Given the description of an element on the screen output the (x, y) to click on. 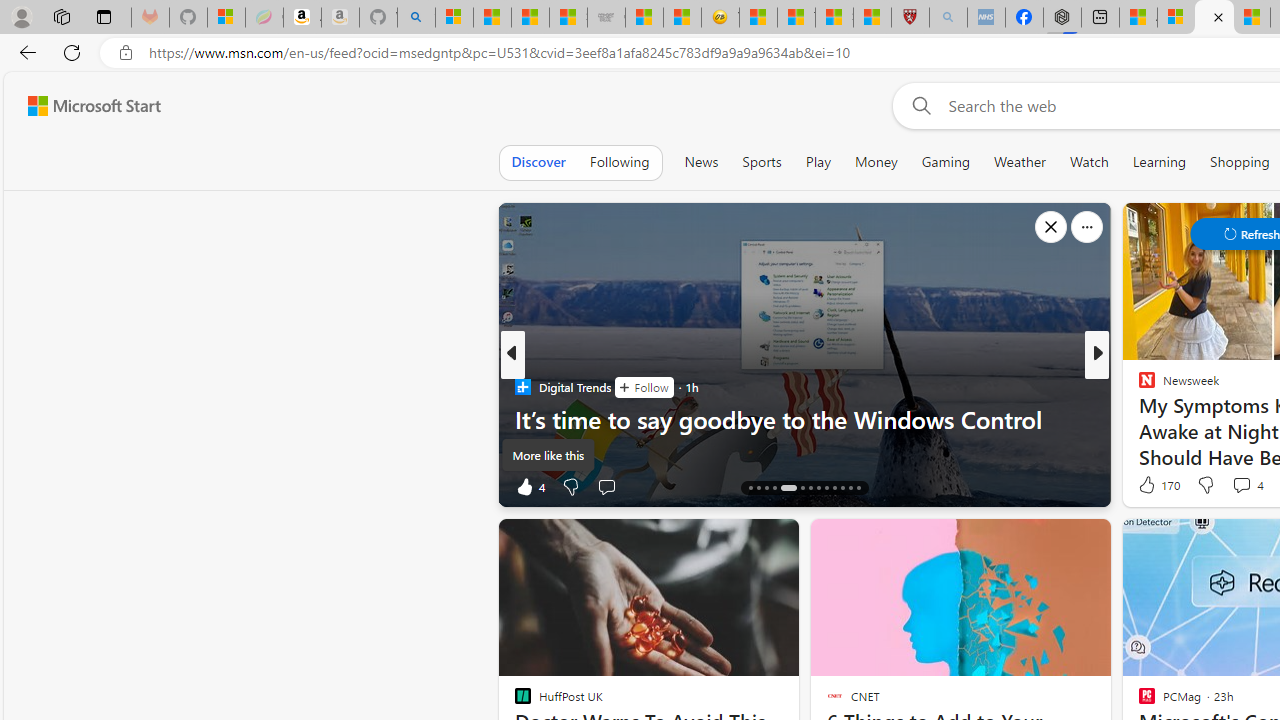
View comments 231 Comment (1228, 485)
AutomationID: tab-24 (842, 487)
FOX News (1138, 386)
View comments 73 Comment (1234, 485)
104 Like (1151, 486)
AutomationID: tab-16 (765, 487)
